Given the description of an element on the screen output the (x, y) to click on. 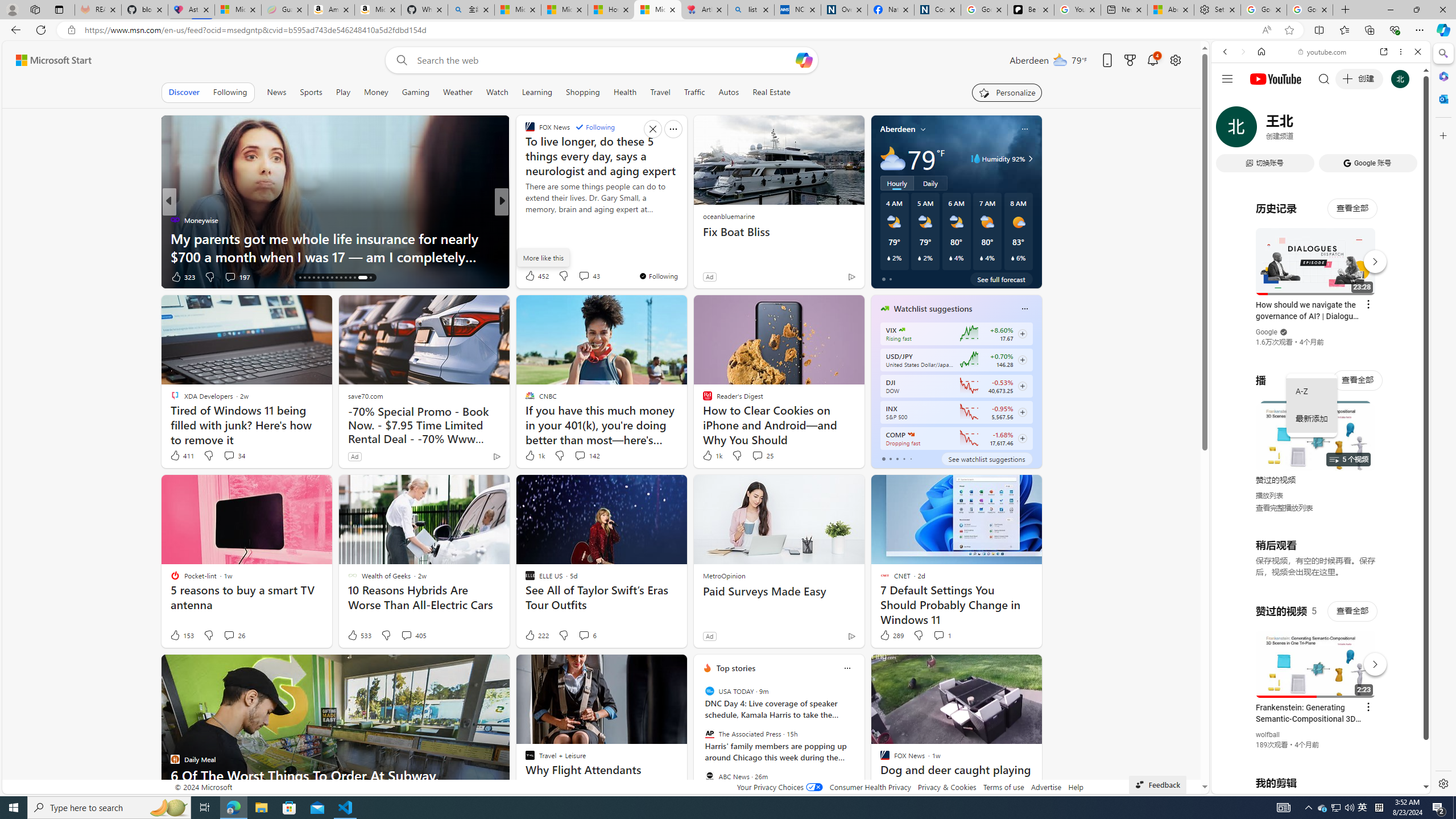
Sports (310, 92)
AutomationID: tab-28 (354, 277)
Learning (537, 92)
ABC News (709, 775)
Search Filter, Search Tools (1350, 129)
452 Like (536, 275)
Aberdeen, Hong Kong SAR hourly forecast | Microsoft Weather (1170, 9)
View comments 142 Comment (579, 455)
